Given the description of an element on the screen output the (x, y) to click on. 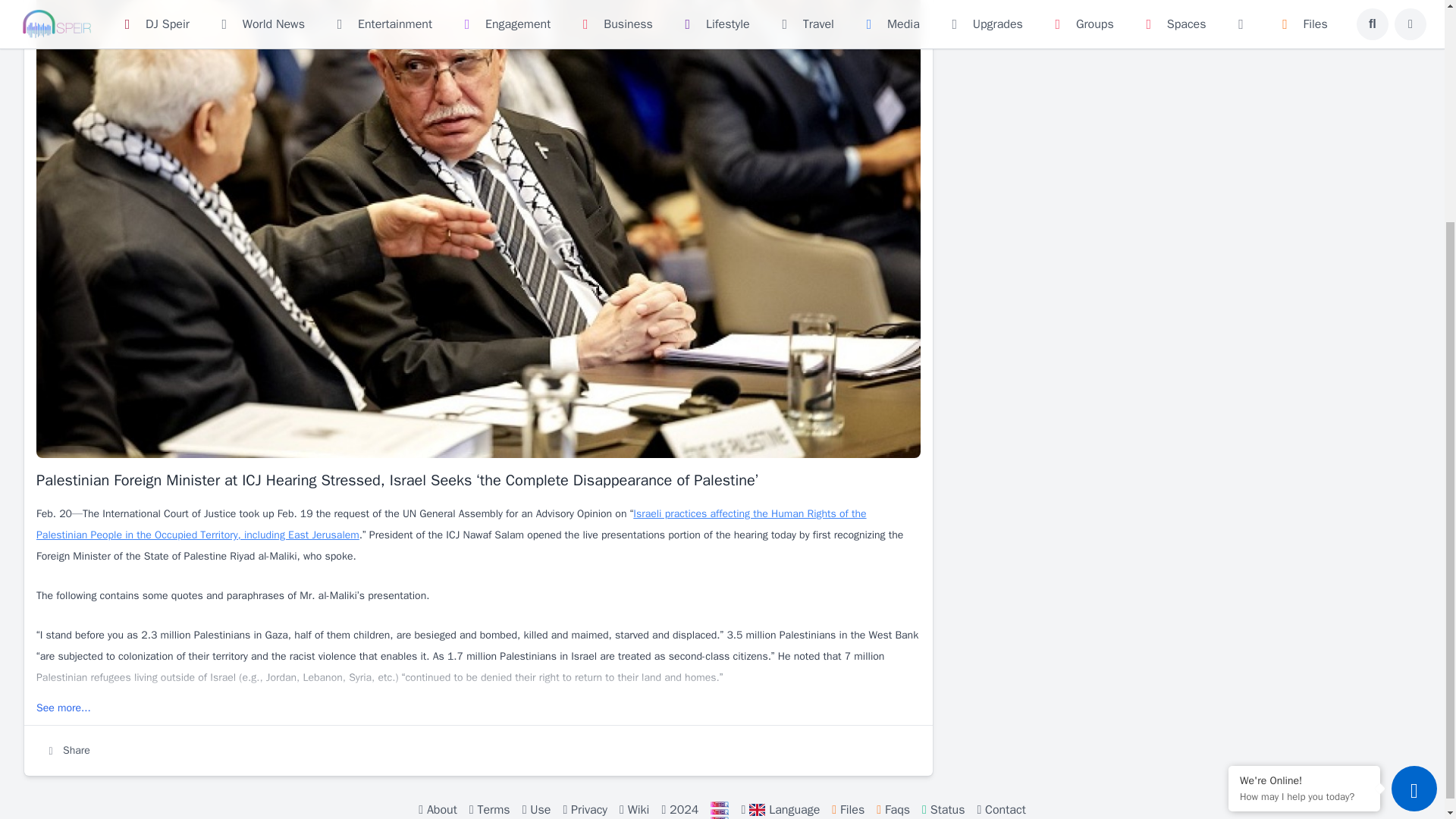
gb (757, 809)
Share (66, 750)
See more... (63, 707)
Share (66, 750)
